Given the description of an element on the screen output the (x, y) to click on. 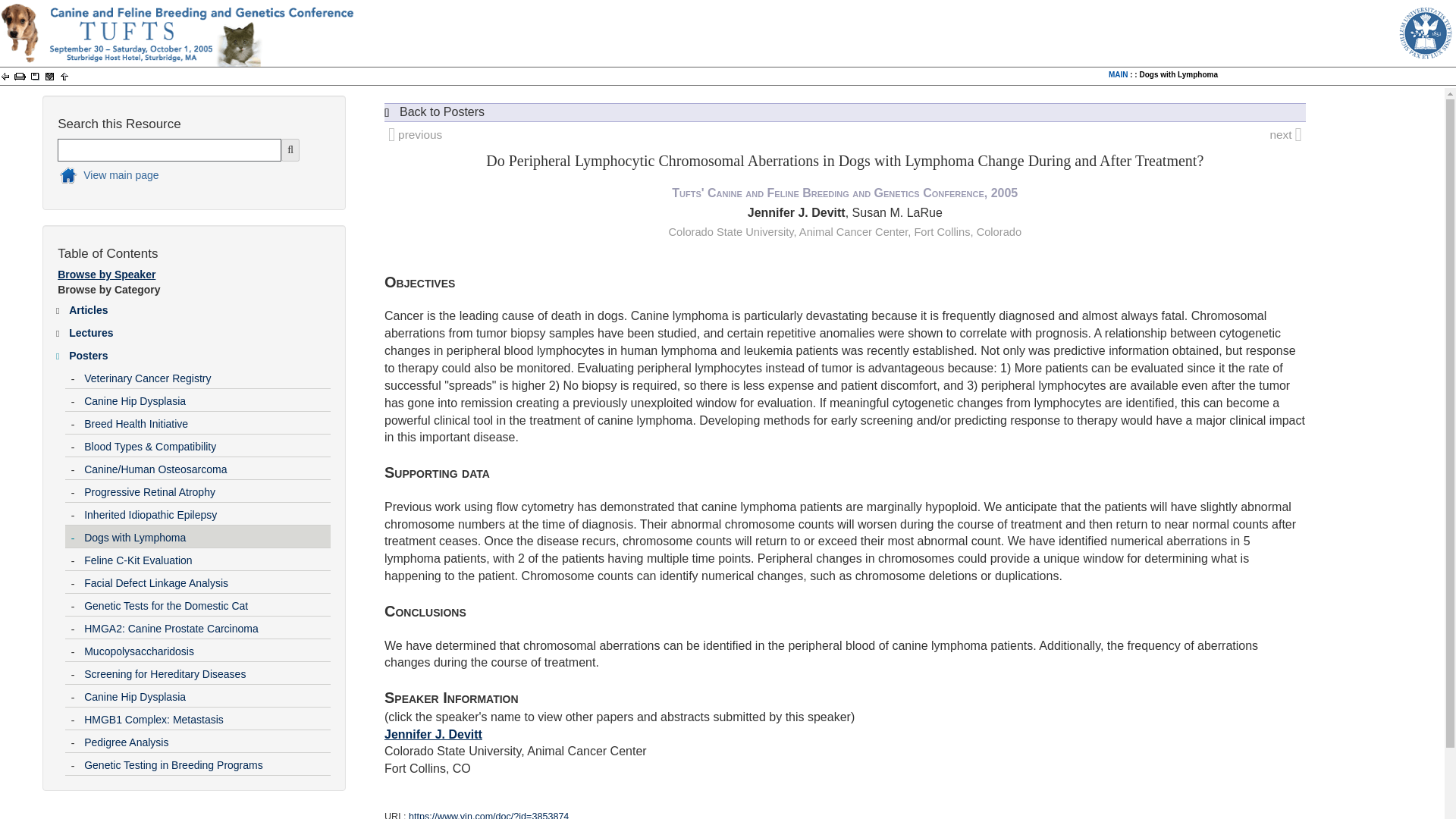
MAIN (1118, 74)
Progressive Retinal Atrophy (206, 488)
Browse by Speaker (106, 274)
Lectures (198, 330)
Breed Health Initiative (206, 420)
Inherited Idiopathic Epilepsy (206, 511)
Posters (198, 352)
Home (180, 177)
Articles (198, 307)
Veterinary Cancer Registry (206, 375)
View main page (180, 177)
Canine Hip Dysplasia (206, 398)
